Given the description of an element on the screen output the (x, y) to click on. 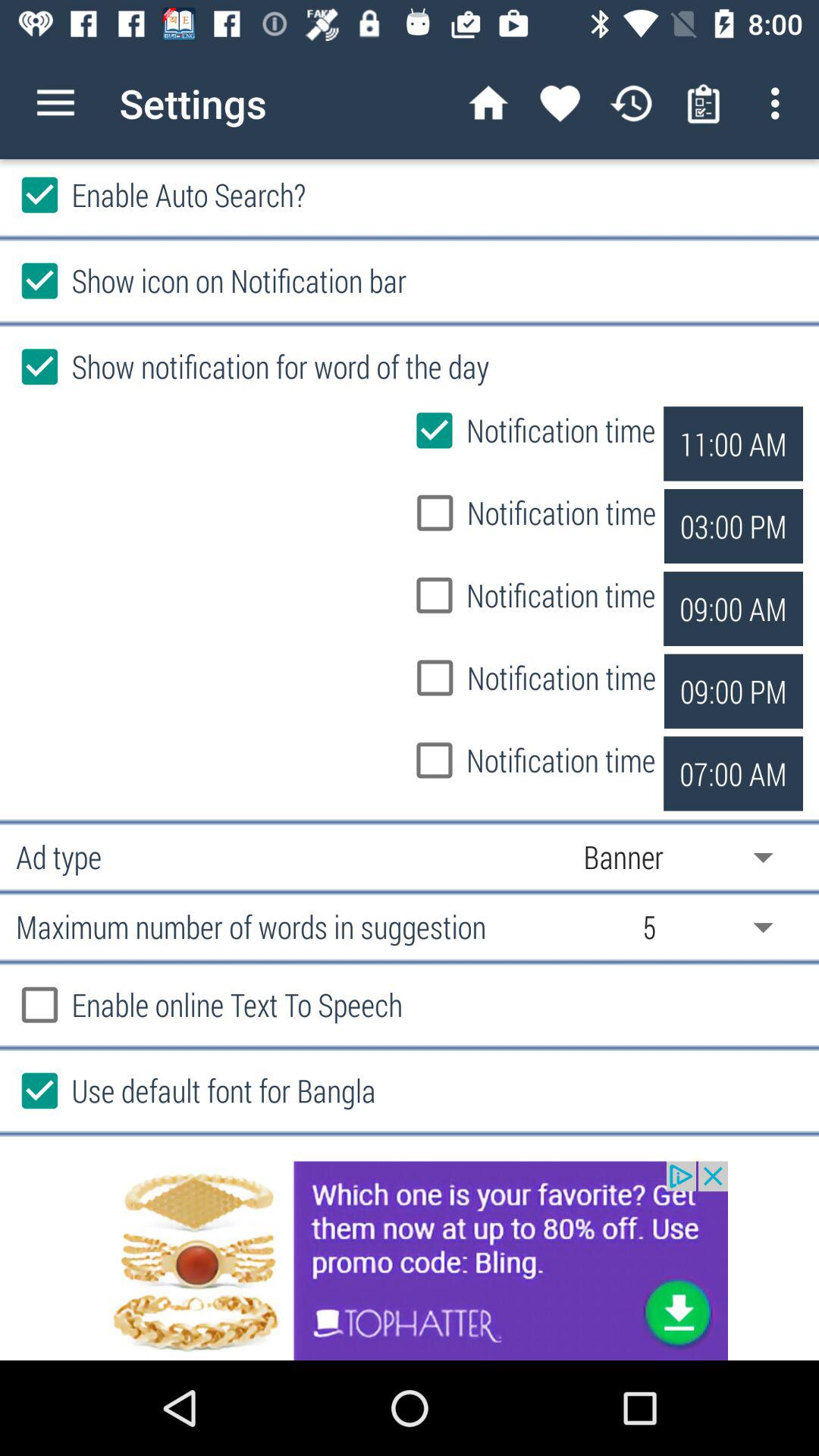
advertisement (409, 1260)
